Given the description of an element on the screen output the (x, y) to click on. 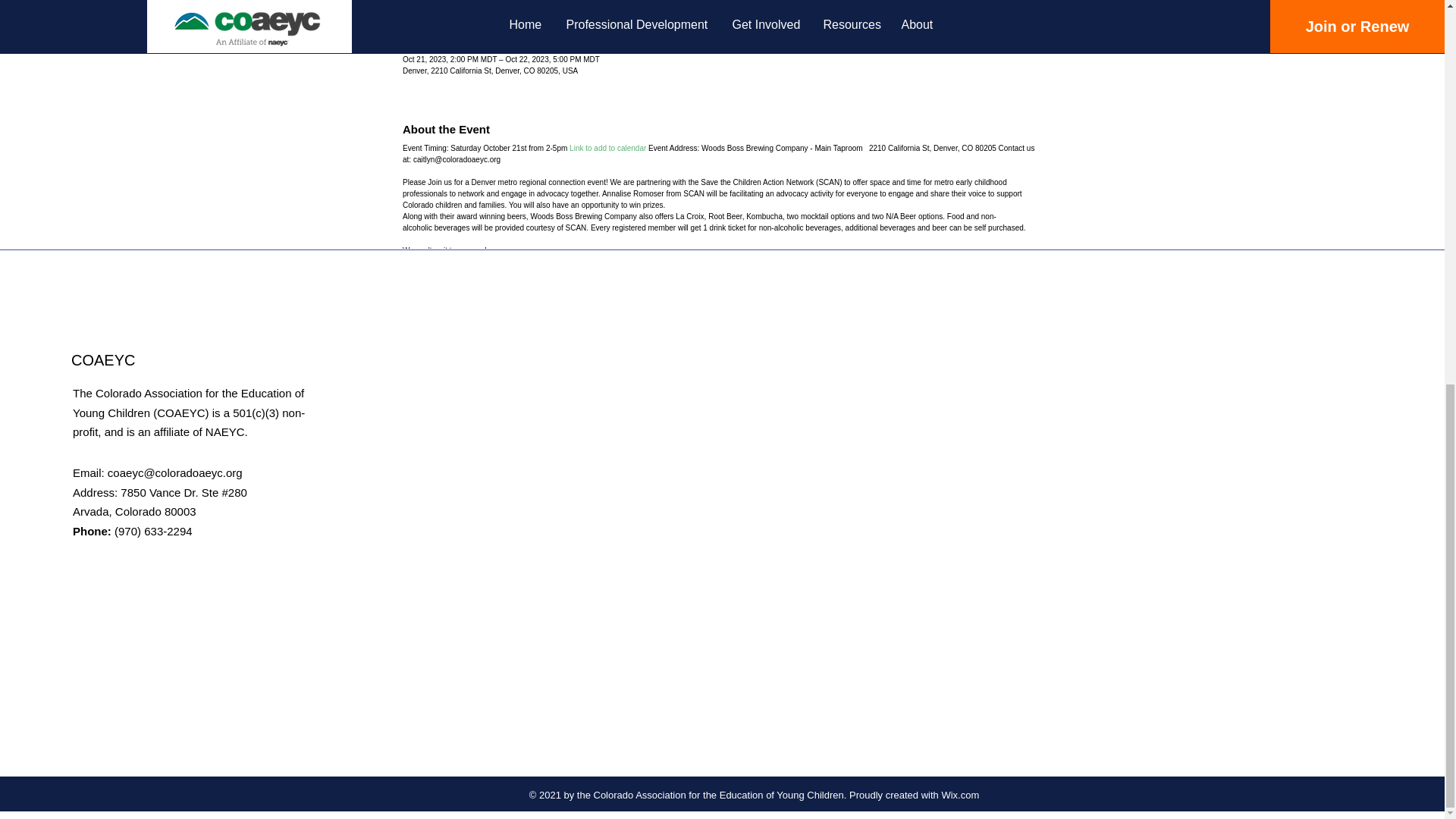
Wix.com (959, 794)
Link to add to calendar (607, 148)
